Given the description of an element on the screen output the (x, y) to click on. 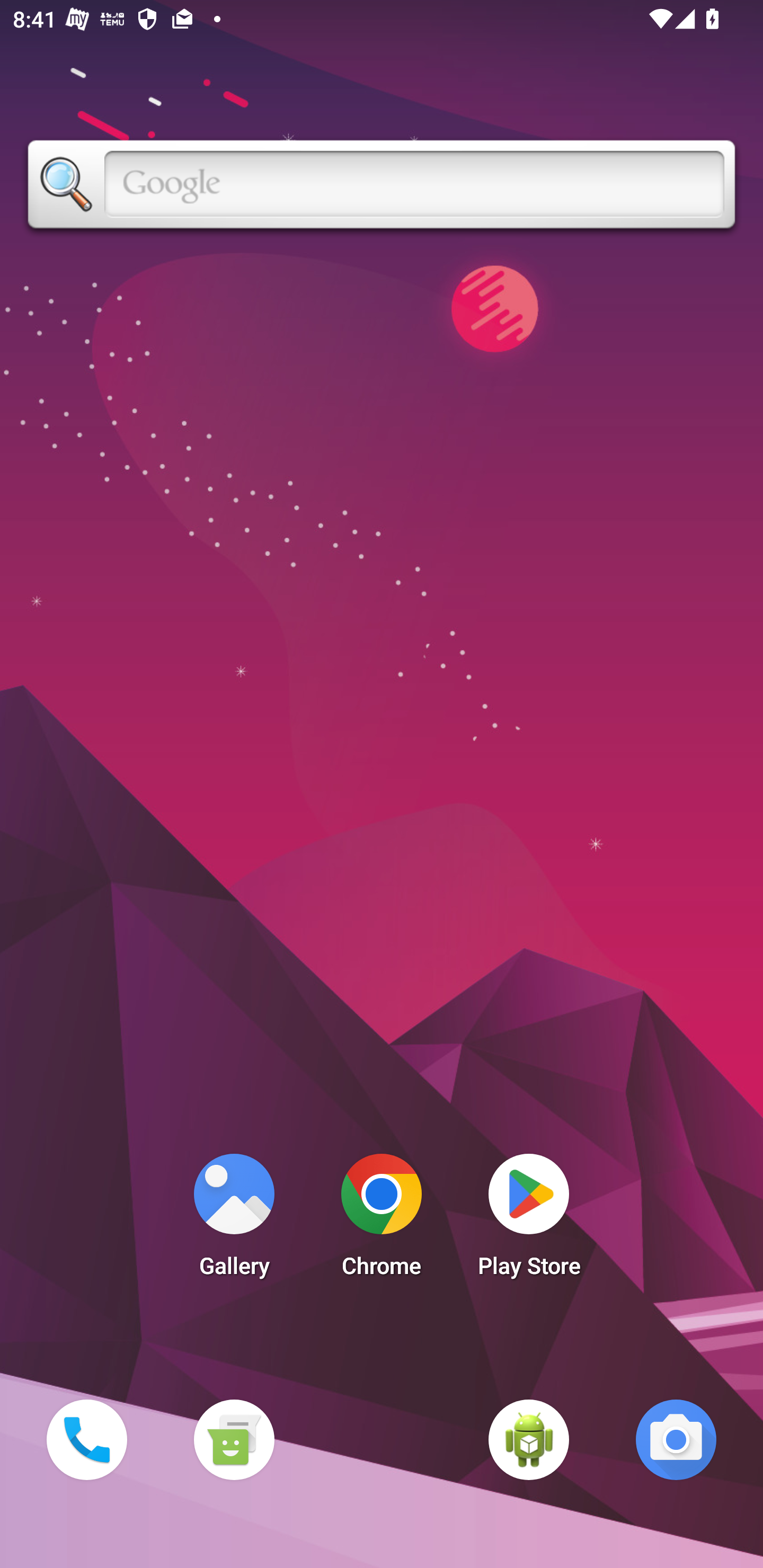
Gallery (233, 1220)
Chrome (381, 1220)
Play Store (528, 1220)
Phone (86, 1439)
Messaging (233, 1439)
WebView Browser Tester (528, 1439)
Camera (676, 1439)
